Given the description of an element on the screen output the (x, y) to click on. 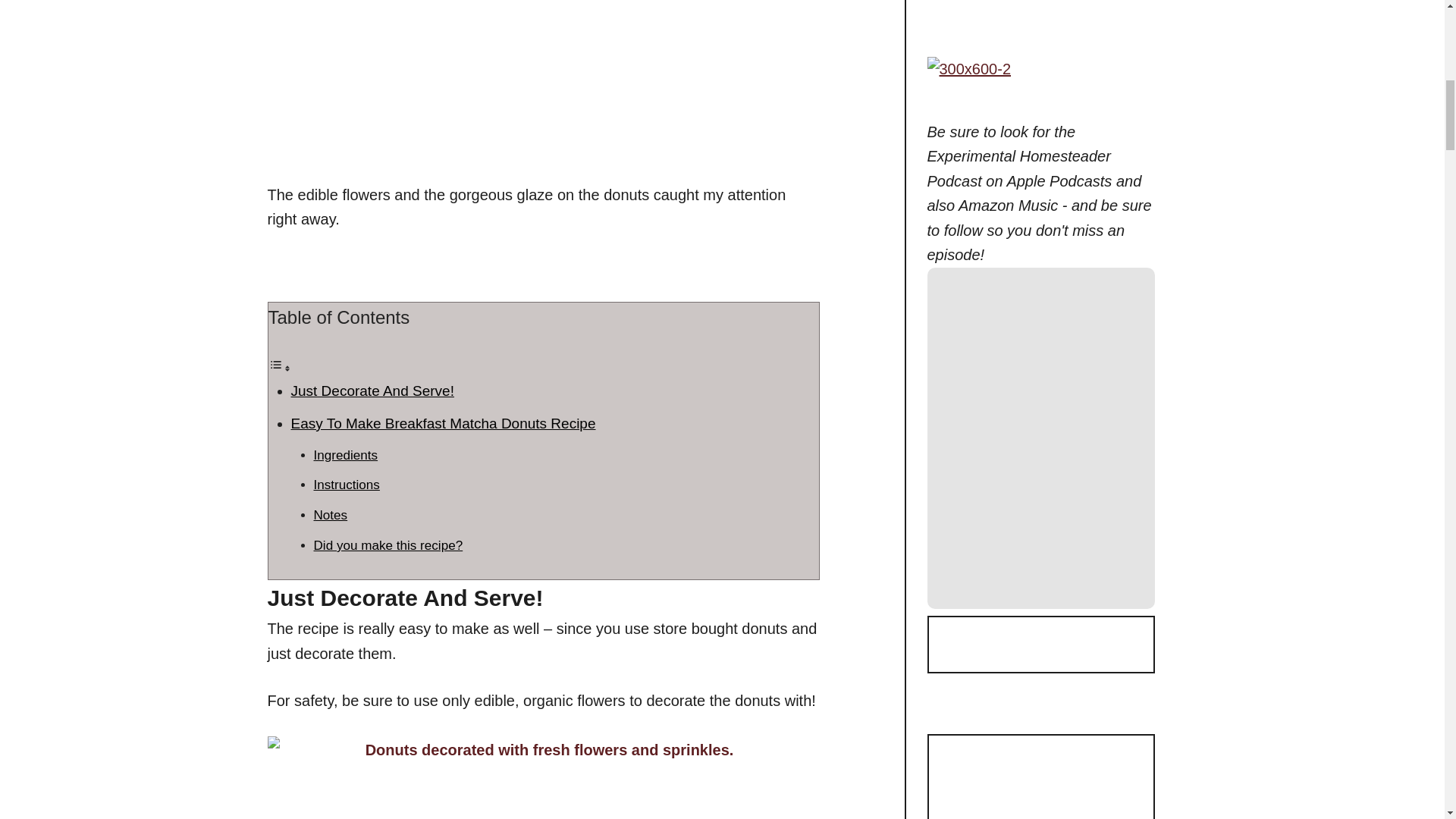
Instructions (347, 484)
Easy To Make Breakfast Matcha Donuts Recipe (443, 423)
"Polished In A Pinch:" Easy Fancy Donuts (456, 76)
Notes (330, 514)
Ingredients (346, 454)
Just Decorate And Serve! (372, 390)
Did you make this recipe? (388, 545)
